Given the description of an element on the screen output the (x, y) to click on. 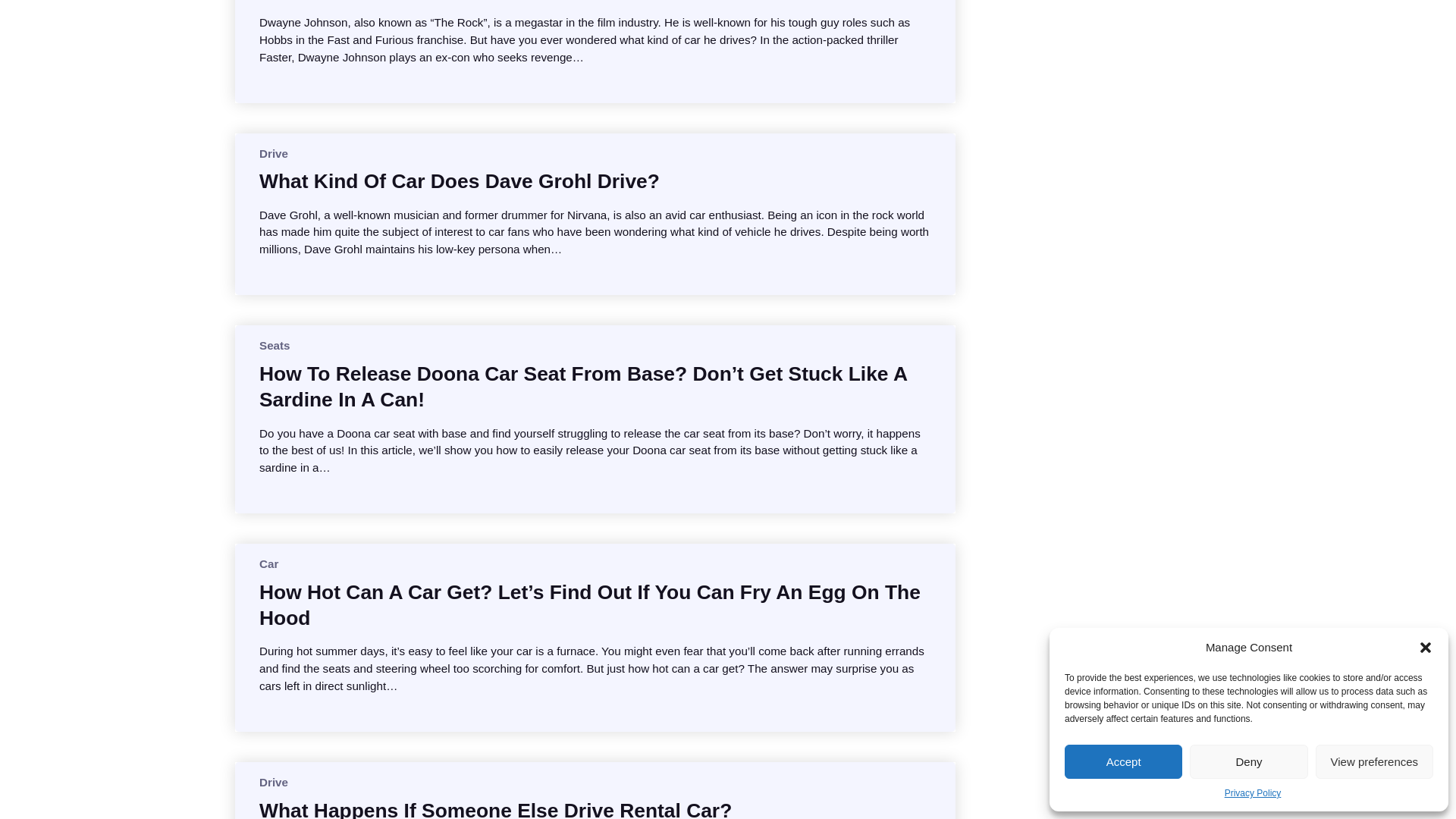
Car (268, 563)
What Happens If Someone Else Drive Rental Car? (495, 808)
Drive (273, 781)
What Kind Of Car Does Dave Grohl Drive? (459, 181)
Advertisement (1106, 88)
Drive (273, 153)
Seats (274, 345)
